Given the description of an element on the screen output the (x, y) to click on. 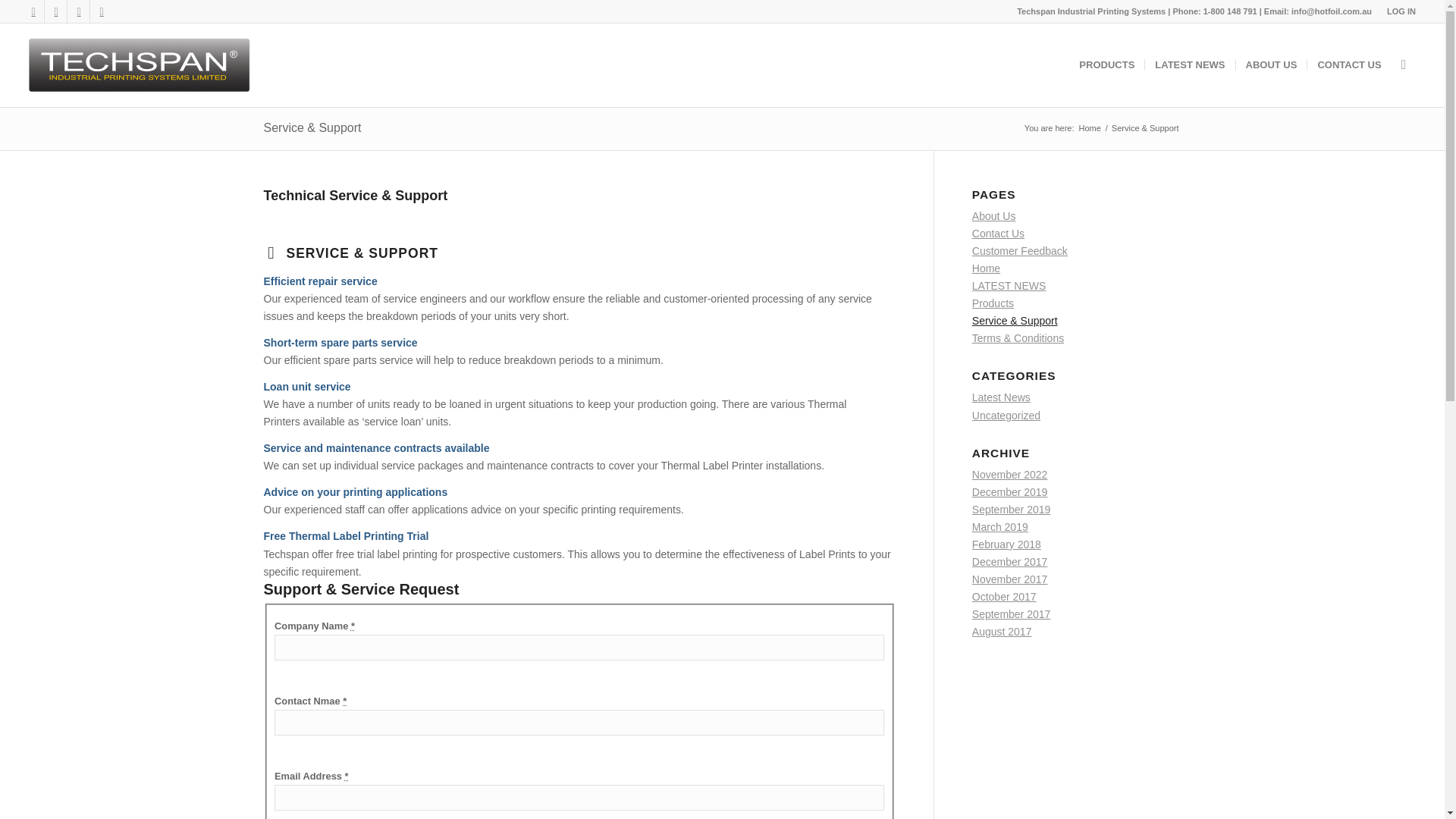
PRODUCTS (1106, 65)
Facebook (33, 11)
LOG IN (1401, 11)
About Us (994, 215)
Youtube (55, 11)
Uncategorized (1006, 415)
Products (992, 303)
logo-01-01 (141, 65)
CONTACT US (1348, 65)
December 2019 (1010, 491)
LATEST NEWS (1009, 285)
September 2019 (1011, 509)
Latest News (1001, 397)
November 2022 (1010, 474)
Home (1090, 128)
